Given the description of an element on the screen output the (x, y) to click on. 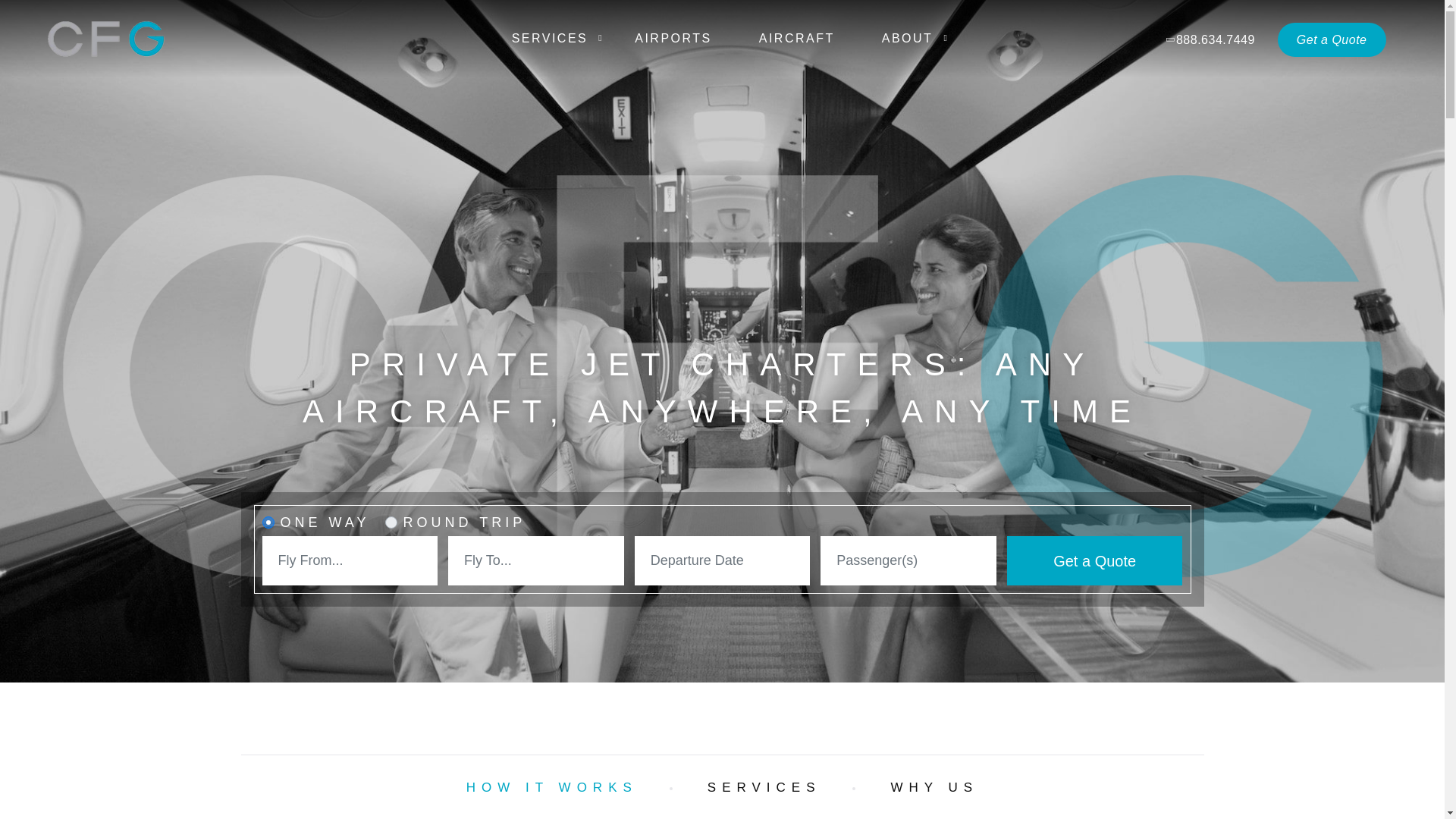
AIRPORTS (673, 38)
888.634.7449 (1211, 39)
AIRCRAFT (796, 38)
ABOUT (906, 38)
Get a Quote (1332, 39)
SERVICES (549, 38)
